Given the description of an element on the screen output the (x, y) to click on. 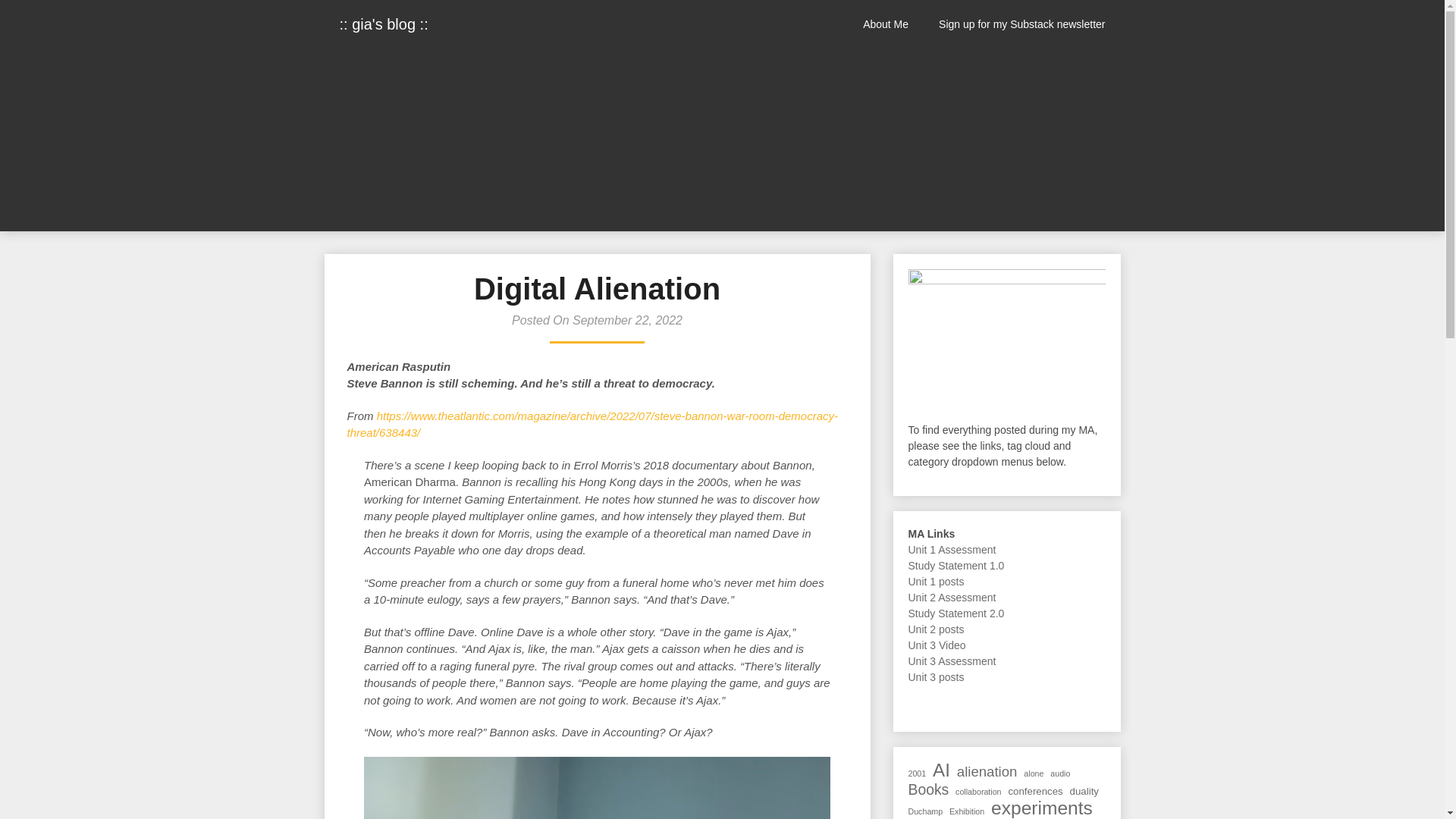
Duchamp (925, 811)
Books (928, 789)
Study Statement 2.0 (956, 613)
Unit 1 posts (935, 581)
2001 (917, 773)
Unit 3 Video (937, 645)
:: gia's blog :: (384, 24)
AI (941, 770)
alone (1033, 773)
experiments (1042, 807)
